Given the description of an element on the screen output the (x, y) to click on. 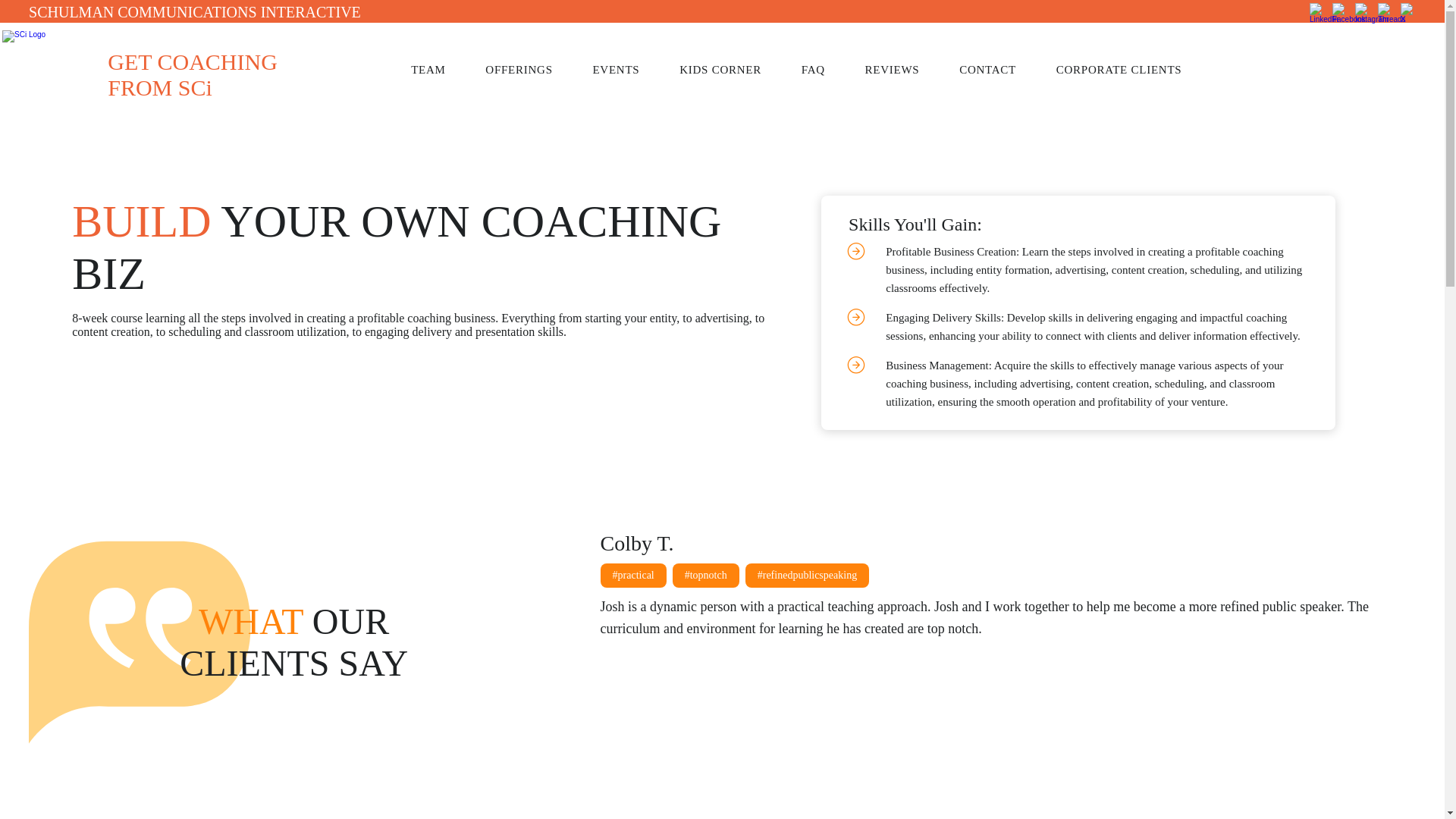
KIDS CORNER (730, 70)
CORPORATE CLIENTS (1128, 70)
OFFERINGS (528, 70)
FAQ (823, 70)
CONTACT (997, 70)
TEAM (438, 70)
REVIEWS (902, 70)
EVENTS (625, 70)
GET COACHING FROM SCi (192, 74)
